Given the description of an element on the screen output the (x, y) to click on. 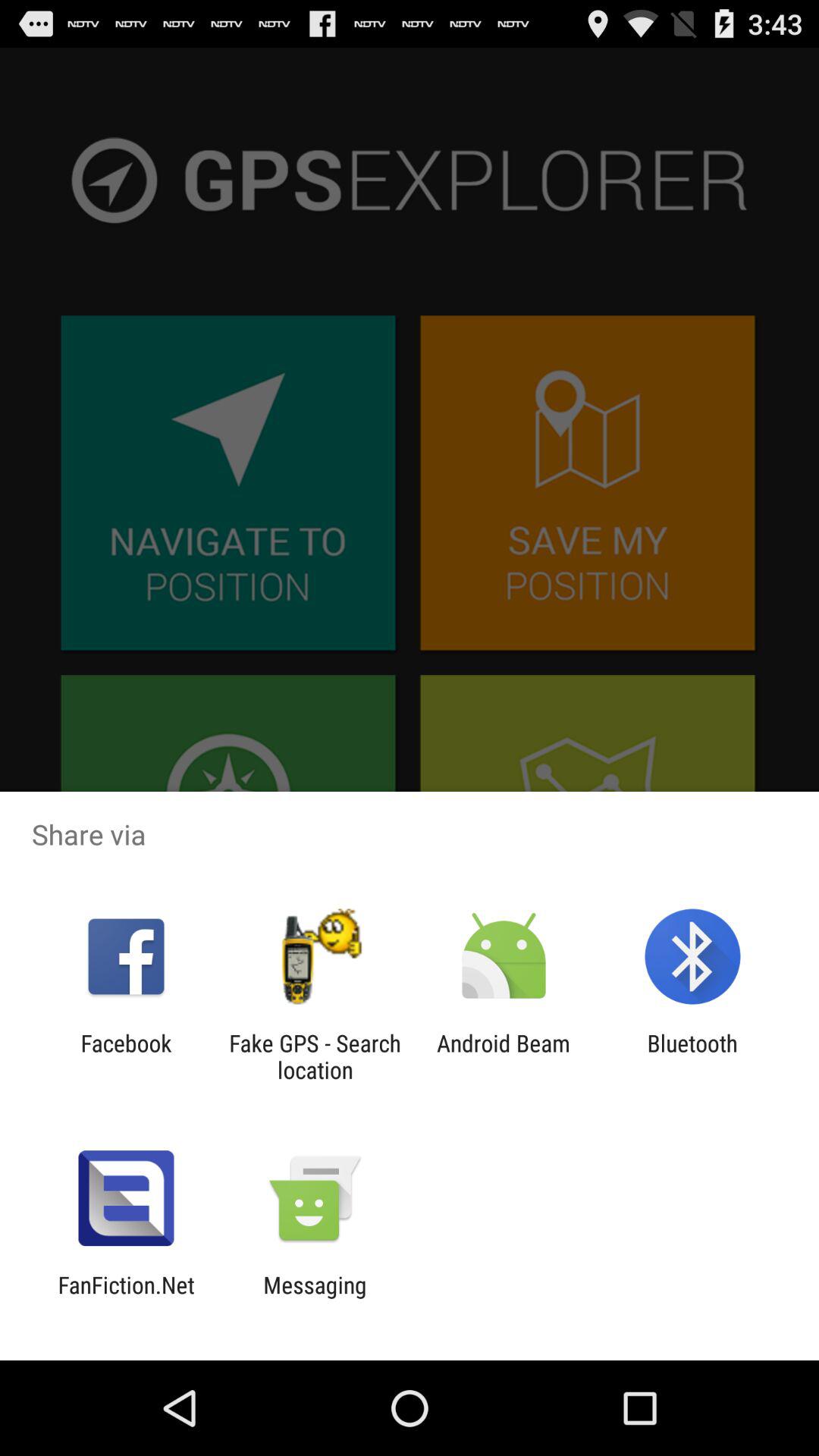
turn on fake gps search item (314, 1056)
